Given the description of an element on the screen output the (x, y) to click on. 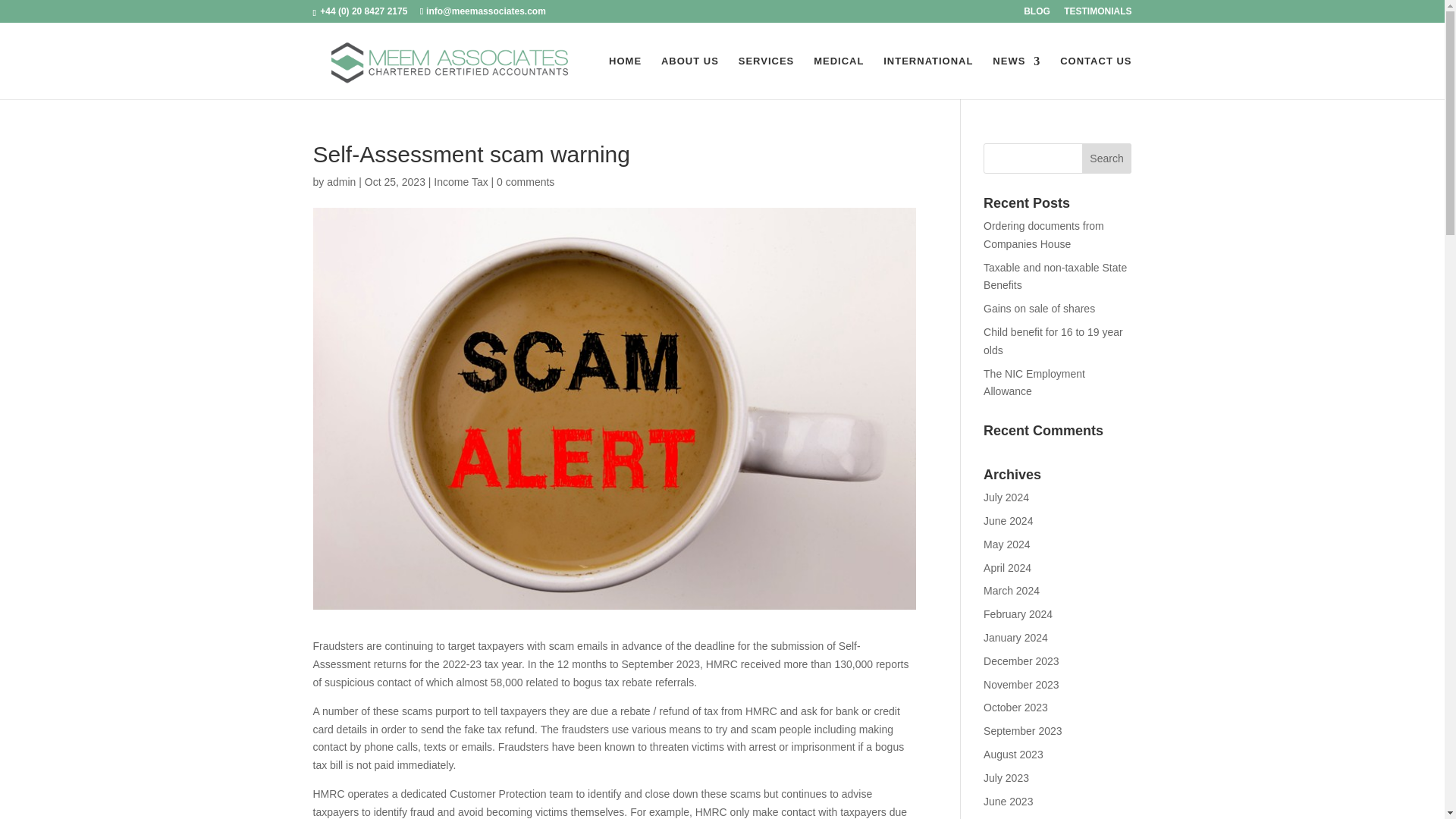
MEDICAL (838, 77)
0 comments (525, 182)
July 2024 (1006, 497)
Ordering documents from Companies House (1043, 235)
Search (1106, 158)
Gains on sale of shares (1039, 308)
CONTACT US (1095, 77)
June 2024 (1008, 521)
TESTIMONIALS (1097, 14)
SERVICES (766, 77)
Income Tax (460, 182)
BLOG (1036, 14)
Search (1106, 158)
NEWS (1016, 77)
April 2024 (1007, 567)
